Given the description of an element on the screen output the (x, y) to click on. 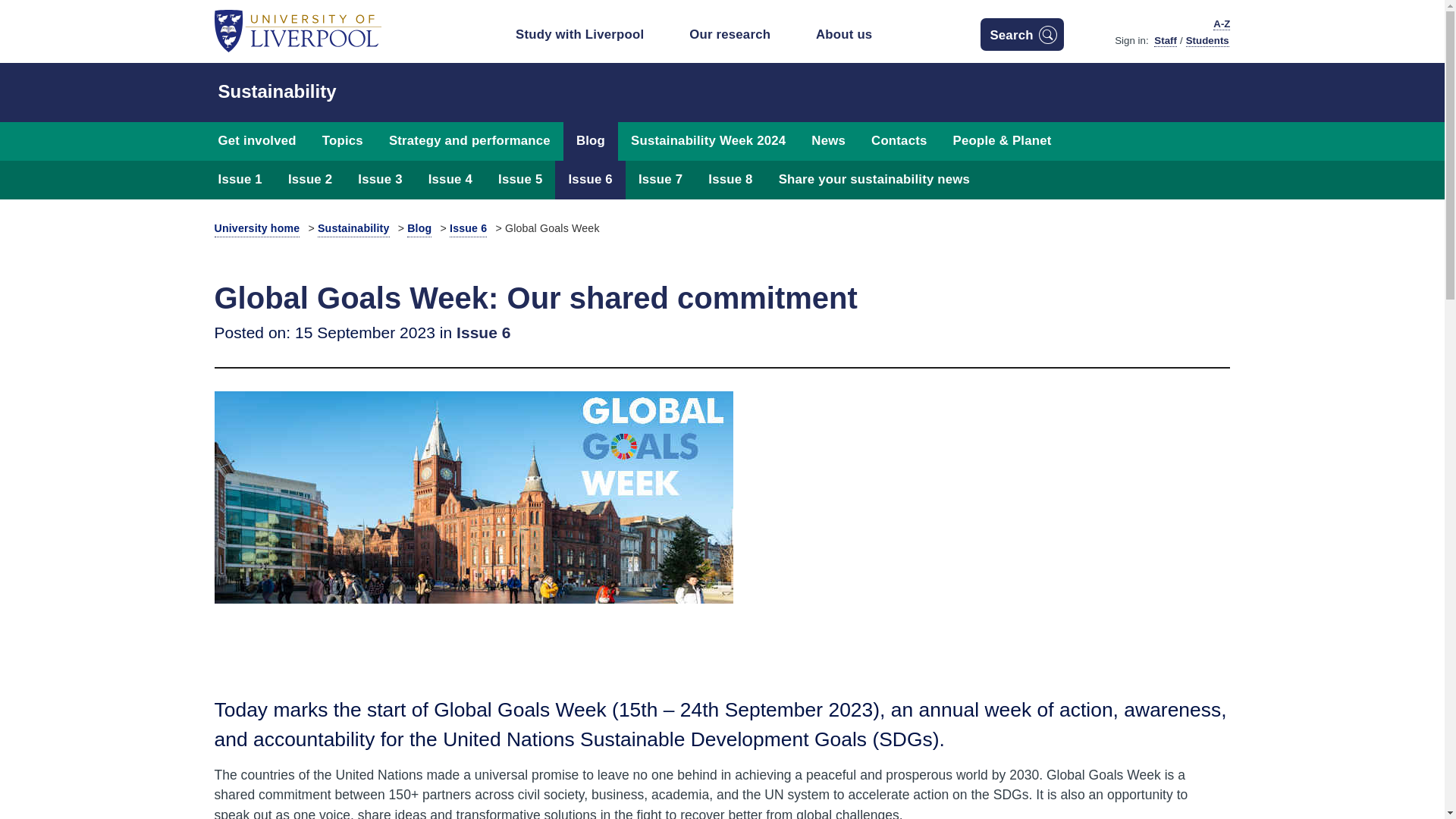
Study with Liverpool (590, 37)
University of Liverpool Home (297, 30)
Our research (740, 37)
About us (855, 37)
